Given the description of an element on the screen output the (x, y) to click on. 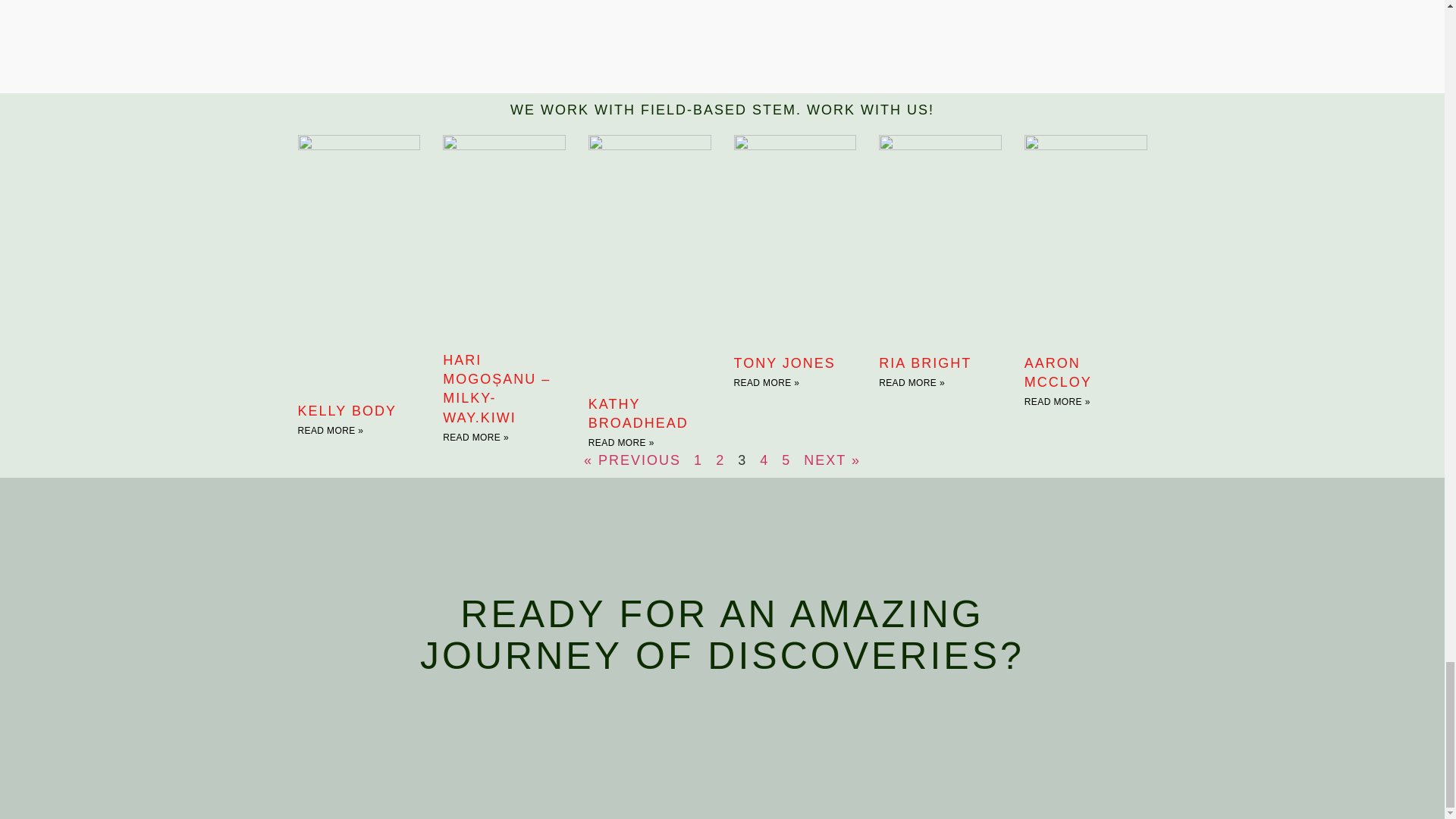
KELLY BODY (346, 410)
TONY JONES (784, 363)
KATHY BROADHEAD (638, 413)
